Given the description of an element on the screen output the (x, y) to click on. 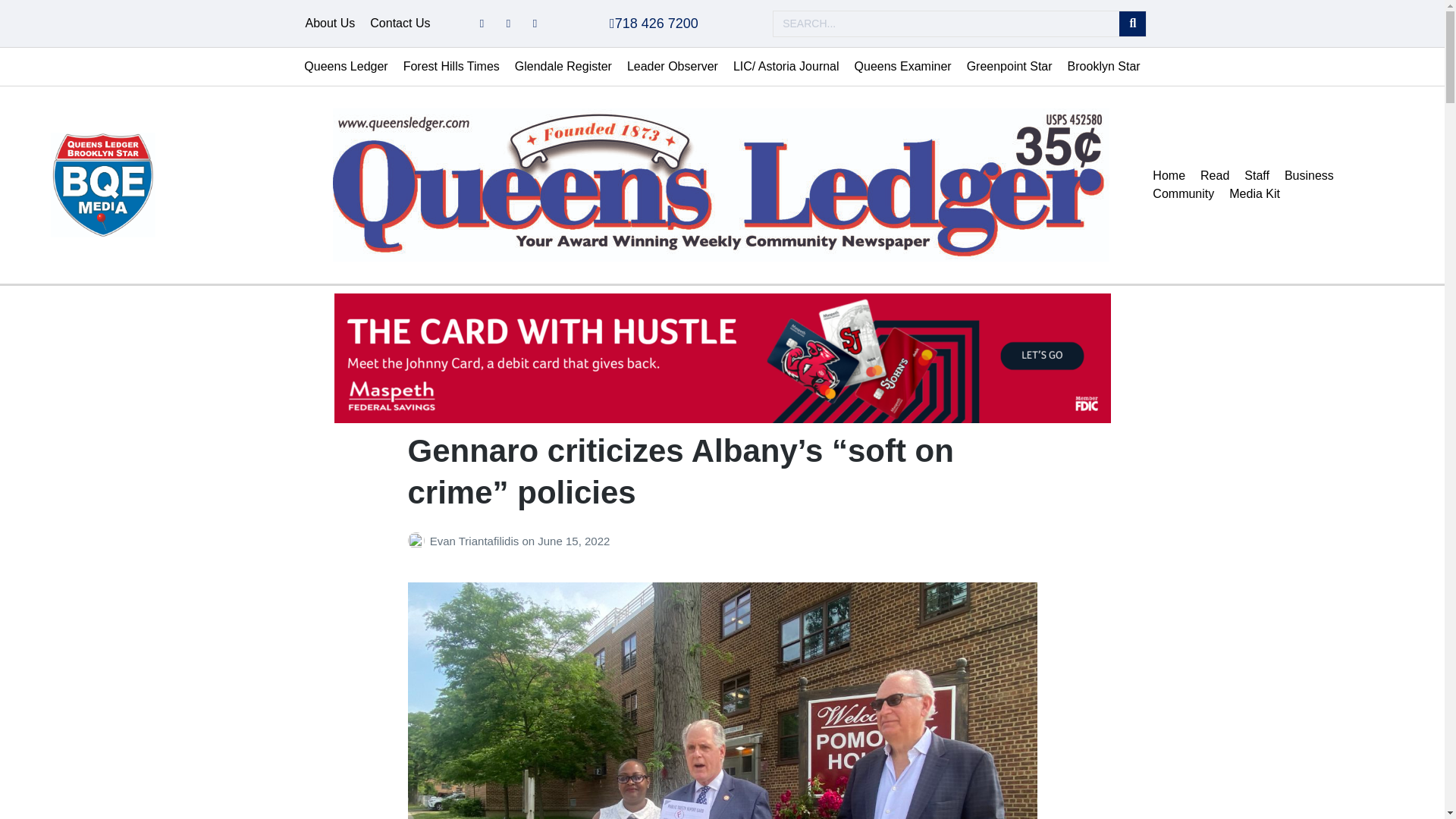
Contact Us (400, 23)
718 426 7200 (653, 23)
About Us (329, 23)
Read (1214, 176)
Greenpoint Star (1009, 66)
Brooklyn Star (1103, 66)
Forest Hills Times (451, 66)
Queens Examiner (903, 66)
Posts by Evan Triantafilidis (418, 540)
Queens Ledger (345, 66)
